Given the description of an element on the screen output the (x, y) to click on. 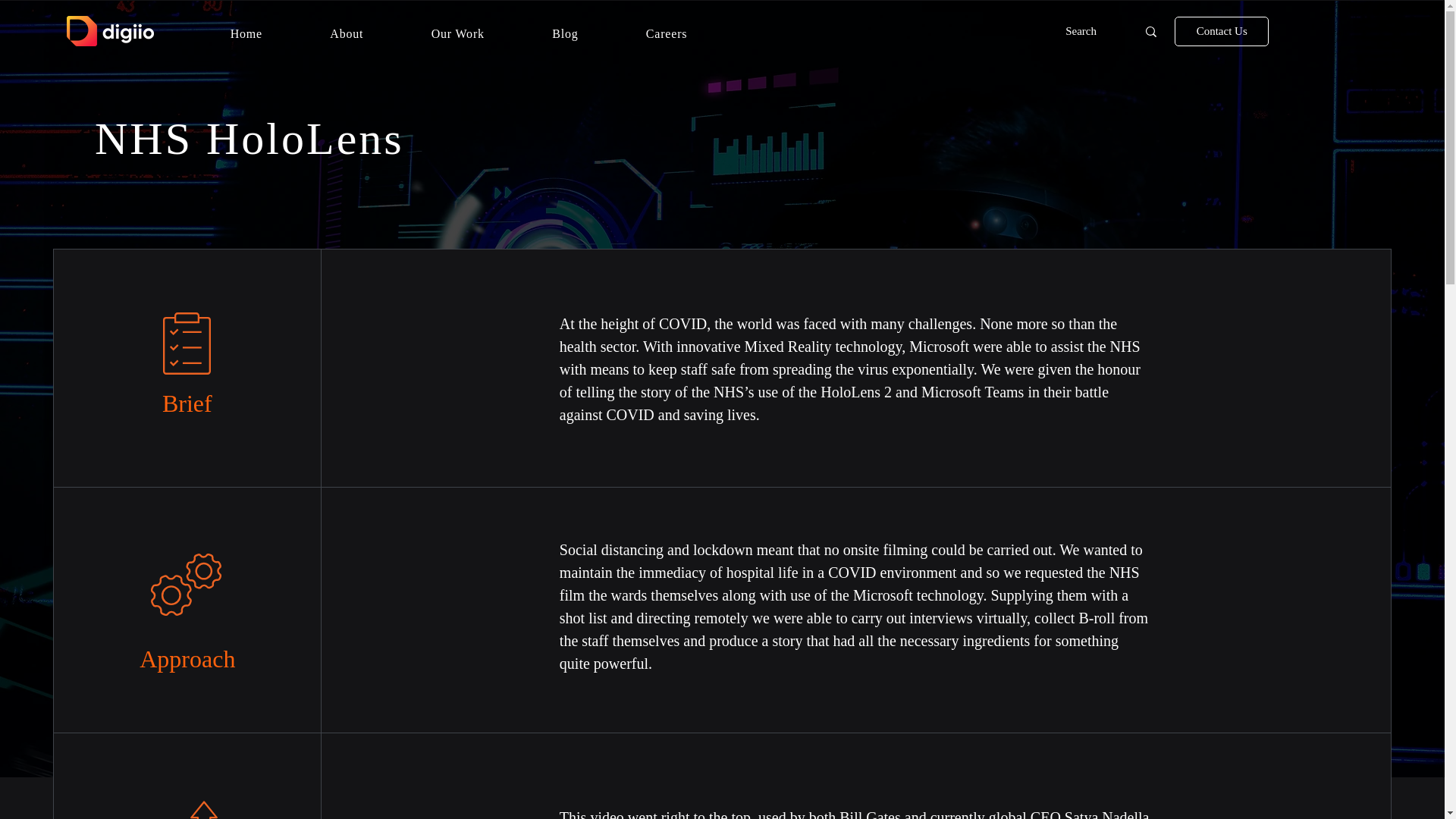
Contact Us (1221, 30)
Our Work (457, 33)
About (346, 33)
Blog (565, 33)
Home (458, 33)
Careers (246, 33)
